Given the description of an element on the screen output the (x, y) to click on. 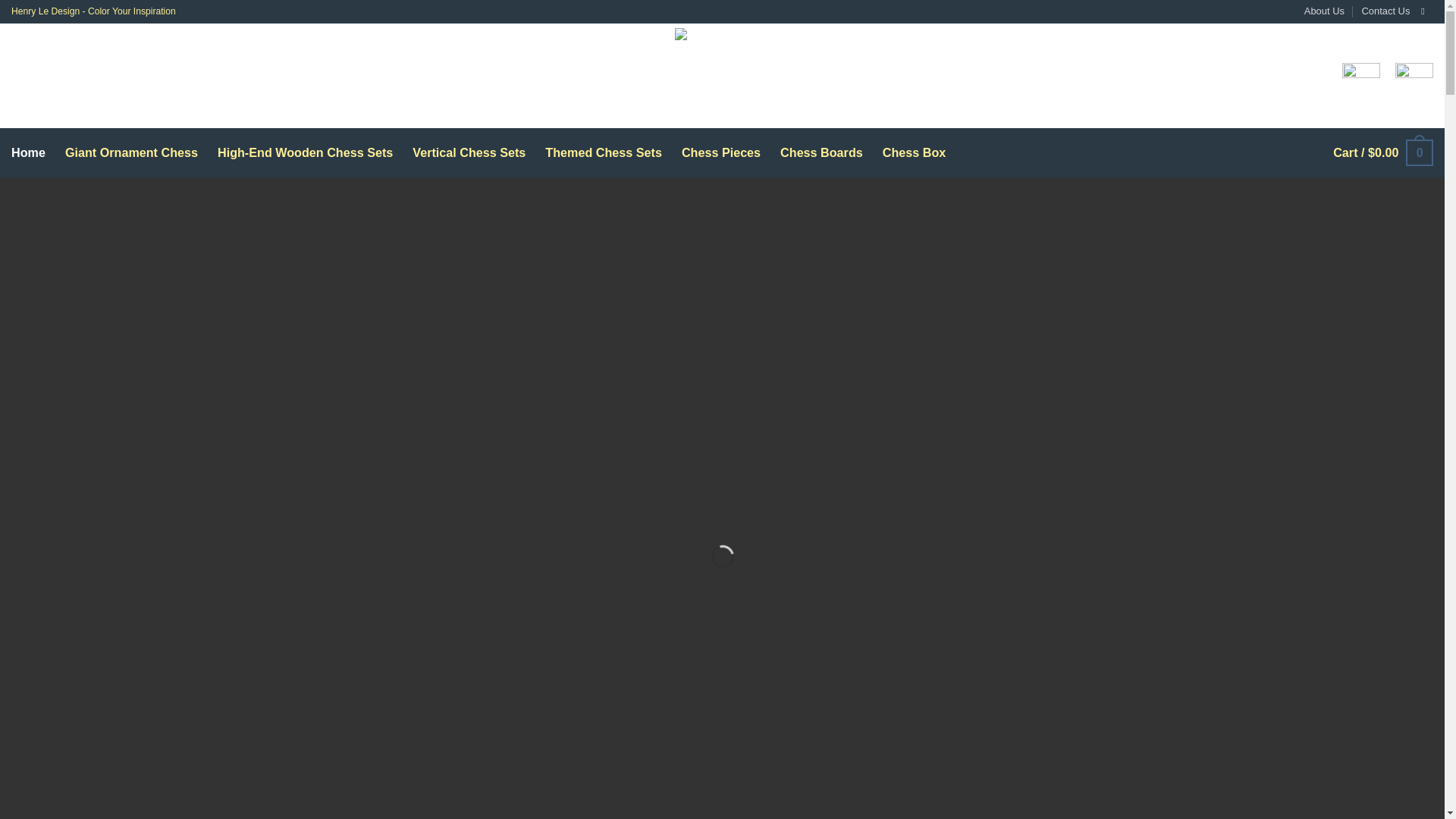
Cart (1382, 152)
Home (28, 152)
Chess Pieces (720, 152)
Chess Box (914, 152)
Giant Ornament Chess (131, 152)
Vertical Chess Sets (468, 152)
Henry Chess Sets (721, 75)
Themed Chess Sets (603, 152)
Chess Boards (821, 152)
Send us an email (1425, 10)
High-End Wooden Chess Sets (304, 152)
Contact Us (1385, 11)
About Us (1323, 11)
